Given the description of an element on the screen output the (x, y) to click on. 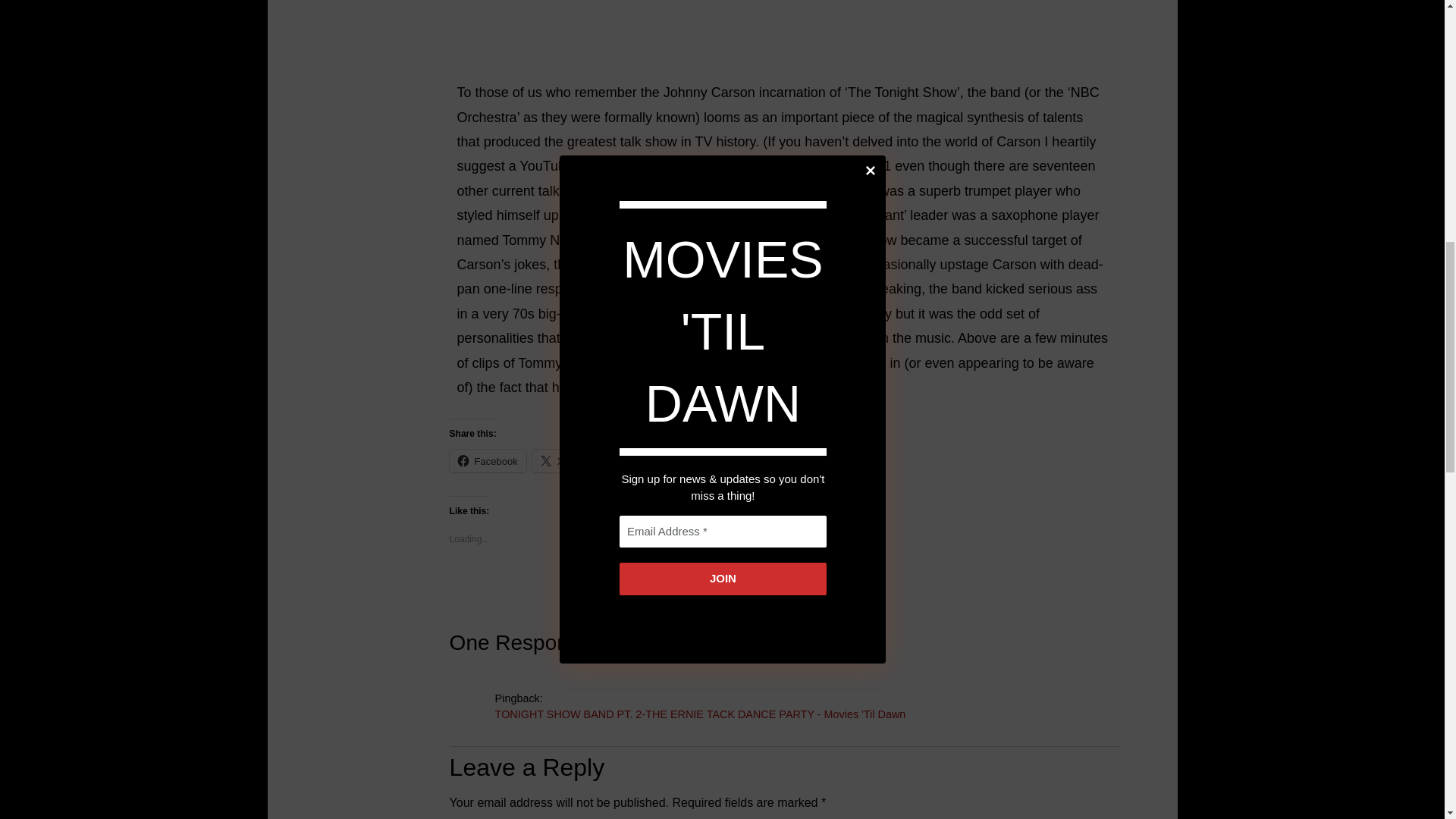
Like or Reblog (782, 588)
Click to share on X (552, 460)
Click to share on Facebook (487, 460)
